Given the description of an element on the screen output the (x, y) to click on. 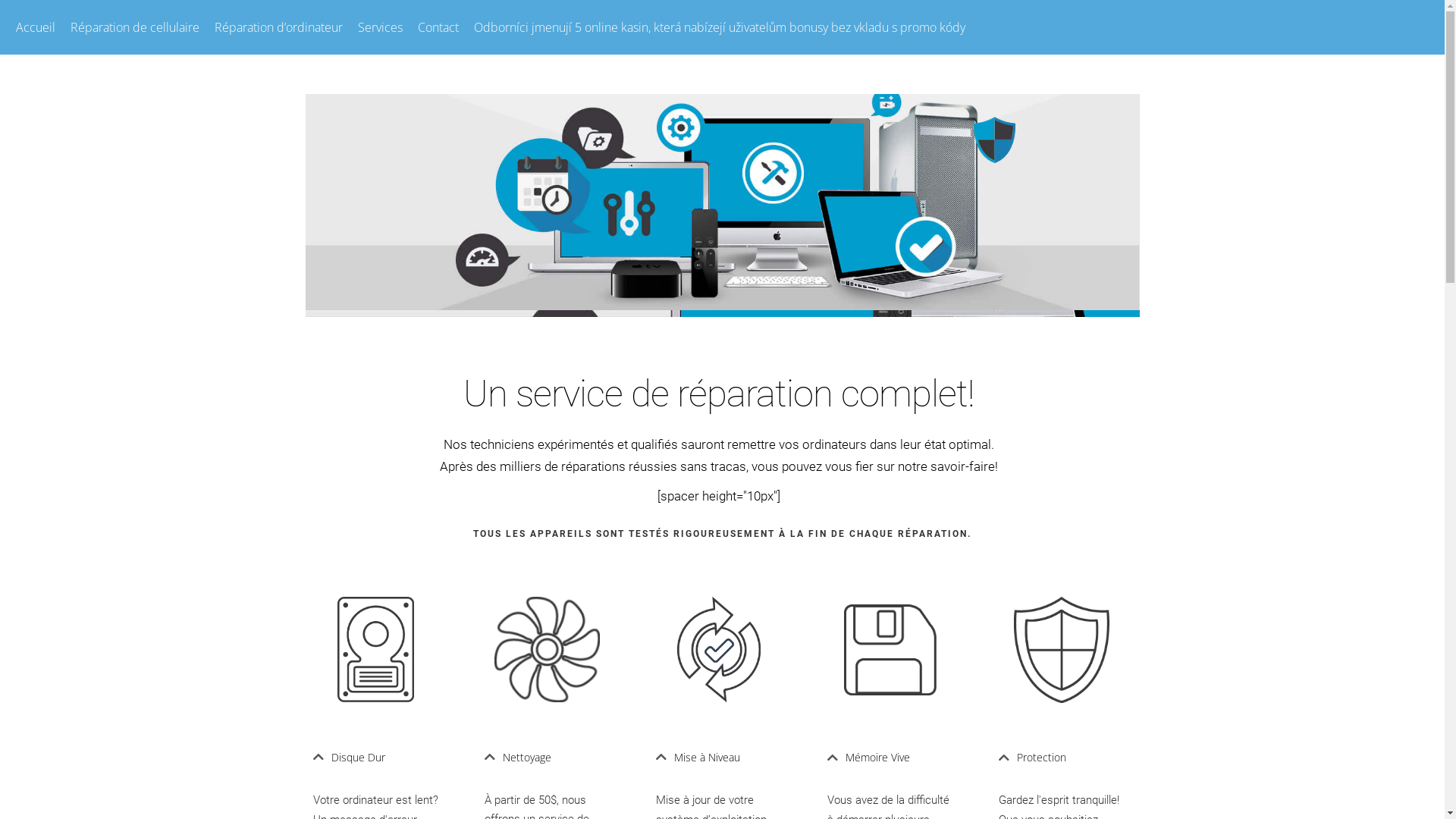
Accueil Element type: text (35, 27)
Services Element type: text (380, 27)
Contact Element type: text (438, 27)
